Given the description of an element on the screen output the (x, y) to click on. 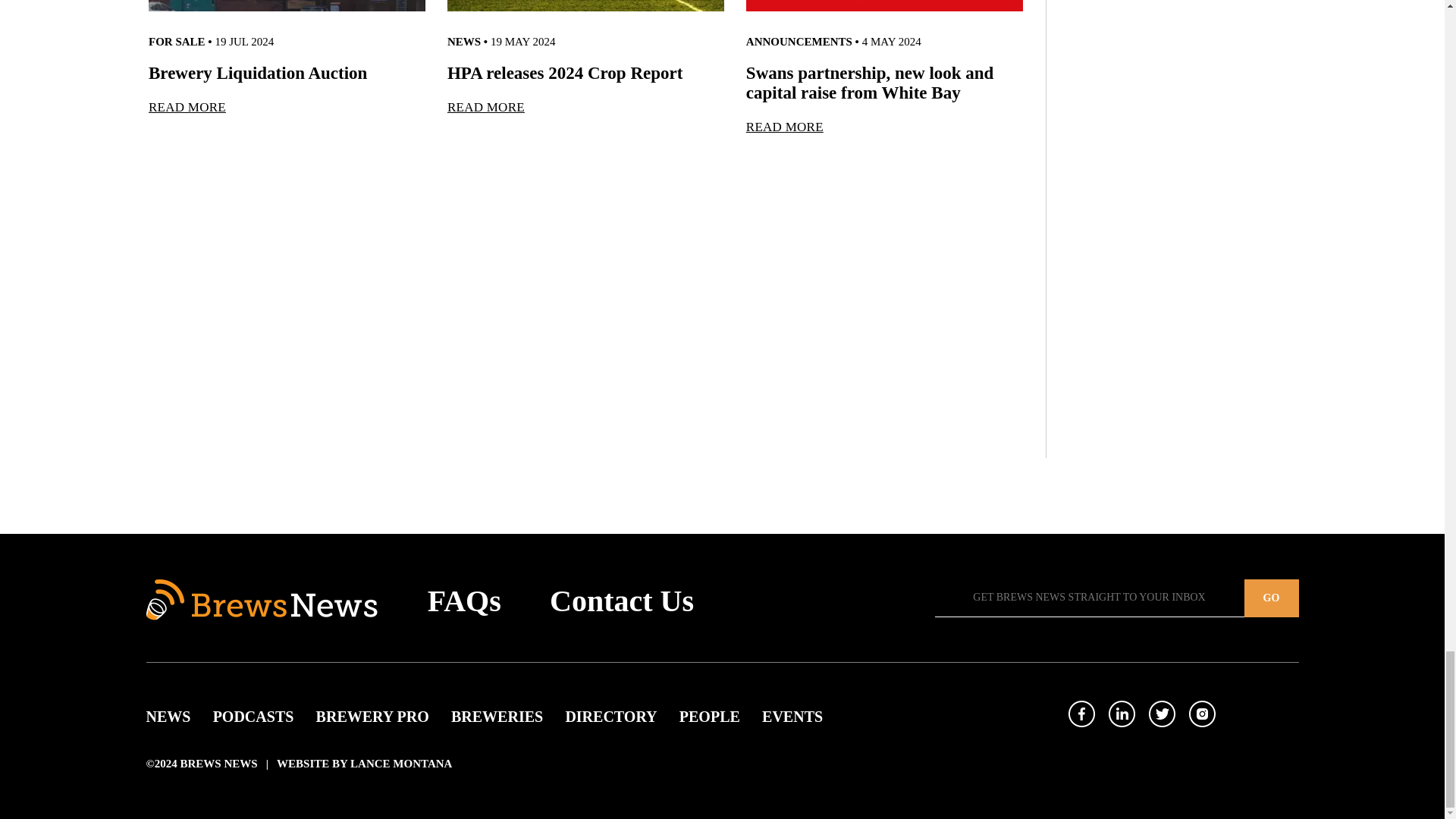
Go (1270, 598)
